Given the description of an element on the screen output the (x, y) to click on. 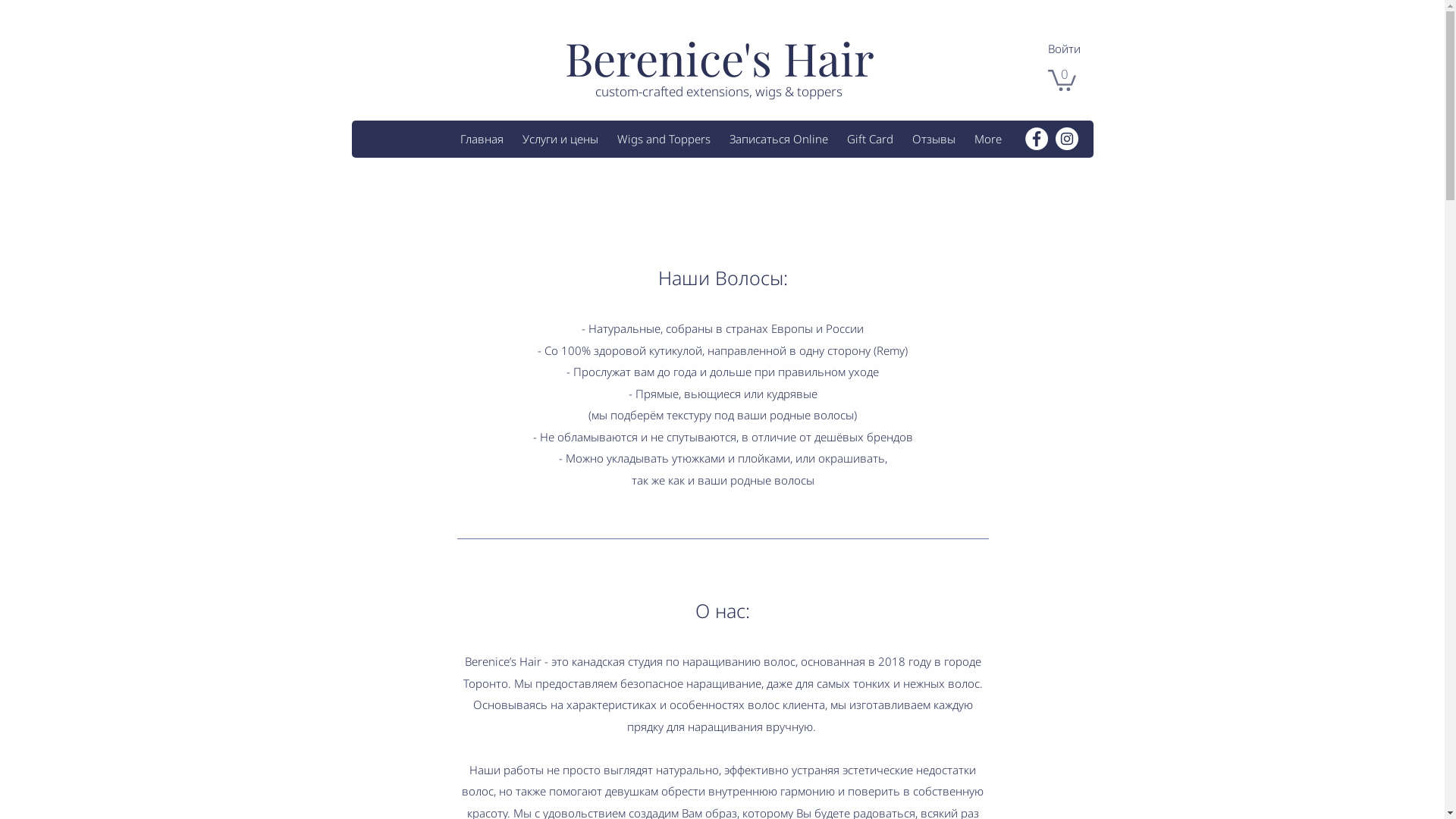
0 Element type: text (1062, 79)
Gift Card Element type: text (869, 138)
